Given the description of an element on the screen output the (x, y) to click on. 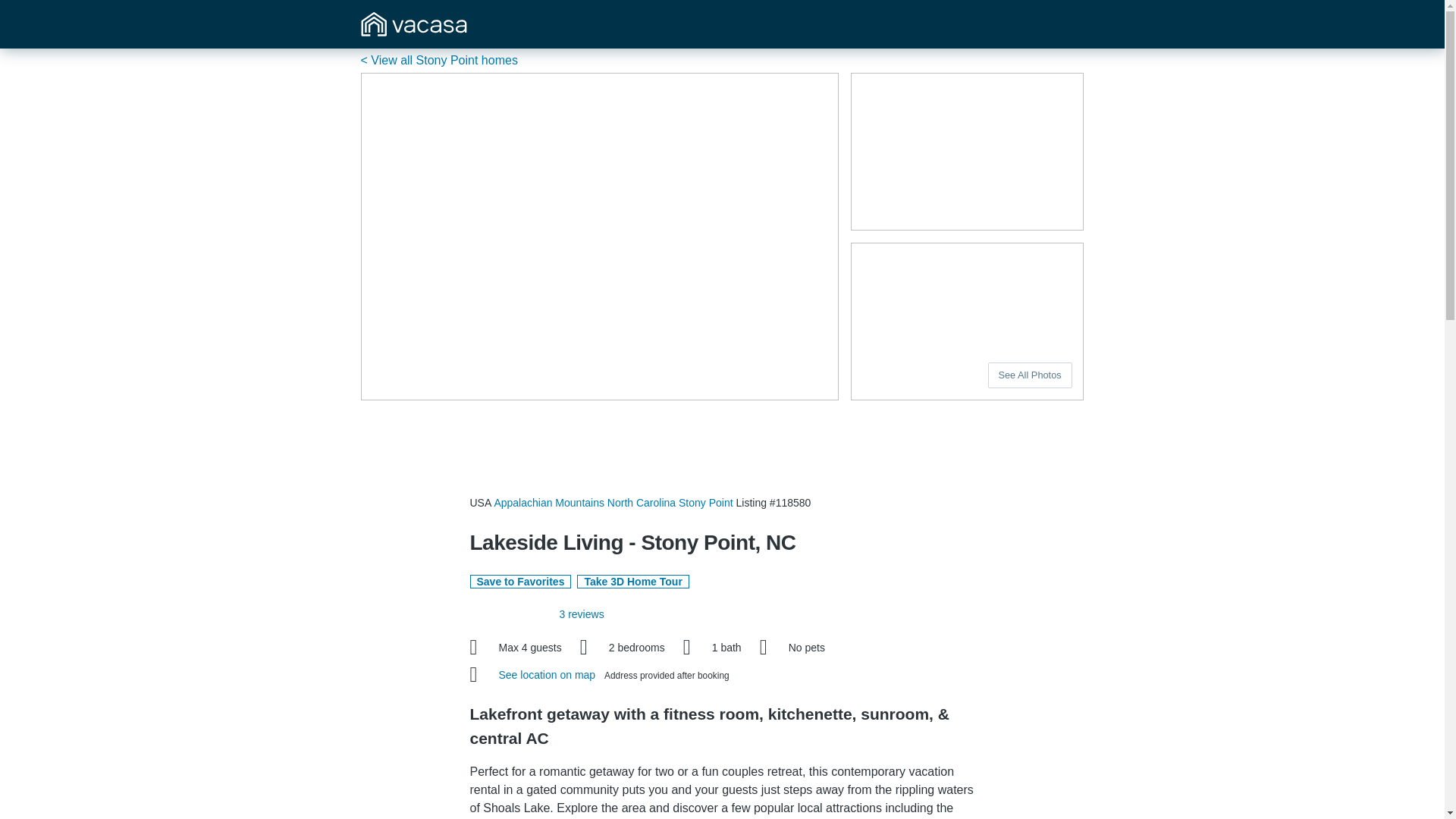
North Carolina (641, 502)
Appalachian Mountains (548, 502)
Save to Favorites (521, 581)
3 reviews (581, 613)
Stony Point (705, 502)
See location on map (548, 674)
Take 3D Home Tour (632, 581)
See All Photos (1029, 375)
Click to add this home to your Favorites (521, 581)
